Given the description of an element on the screen output the (x, y) to click on. 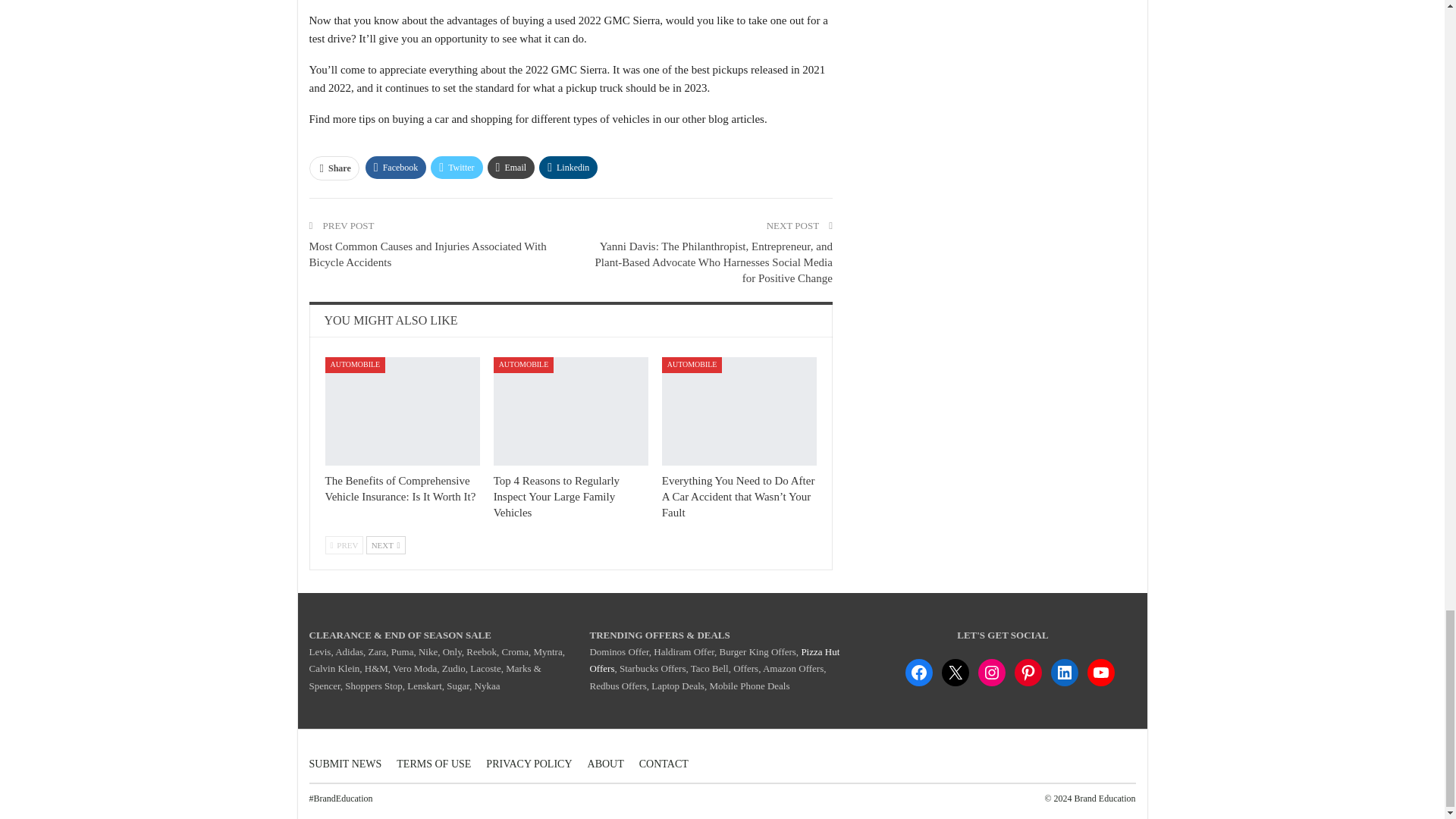
YOU MIGHT ALSO LIKE (391, 319)
PREV (343, 545)
AUTOMOBILE (354, 365)
AUTOMOBILE (523, 365)
Linkedin (567, 167)
